Given the description of an element on the screen output the (x, y) to click on. 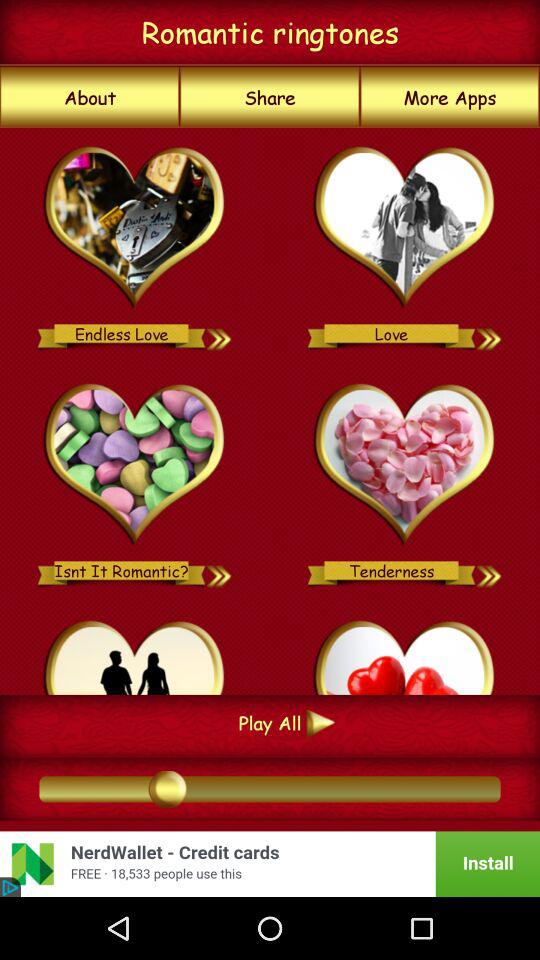
open page (134, 228)
